Given the description of an element on the screen output the (x, y) to click on. 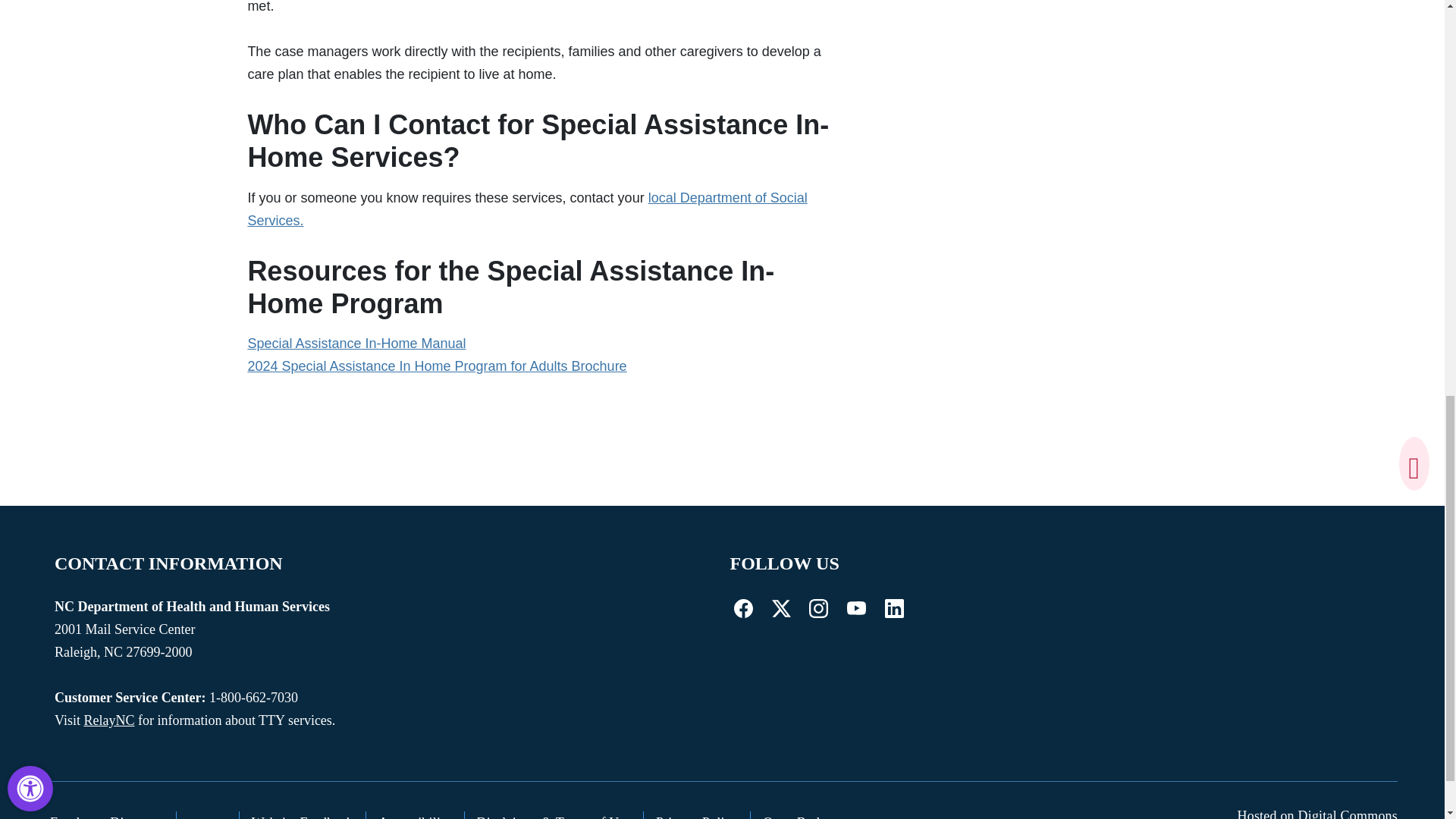
State of North Carolina Open Budget (799, 815)
Website User Feedback Form (303, 815)
Accessibility of State of North Carolina Websites (415, 815)
State of North Carolina Privacy Policy (697, 815)
2024 Special Assistance In Home Program for Adults Brochure (436, 365)
The State of North Carolina (208, 815)
Terms of Use (553, 815)
